Given the description of an element on the screen output the (x, y) to click on. 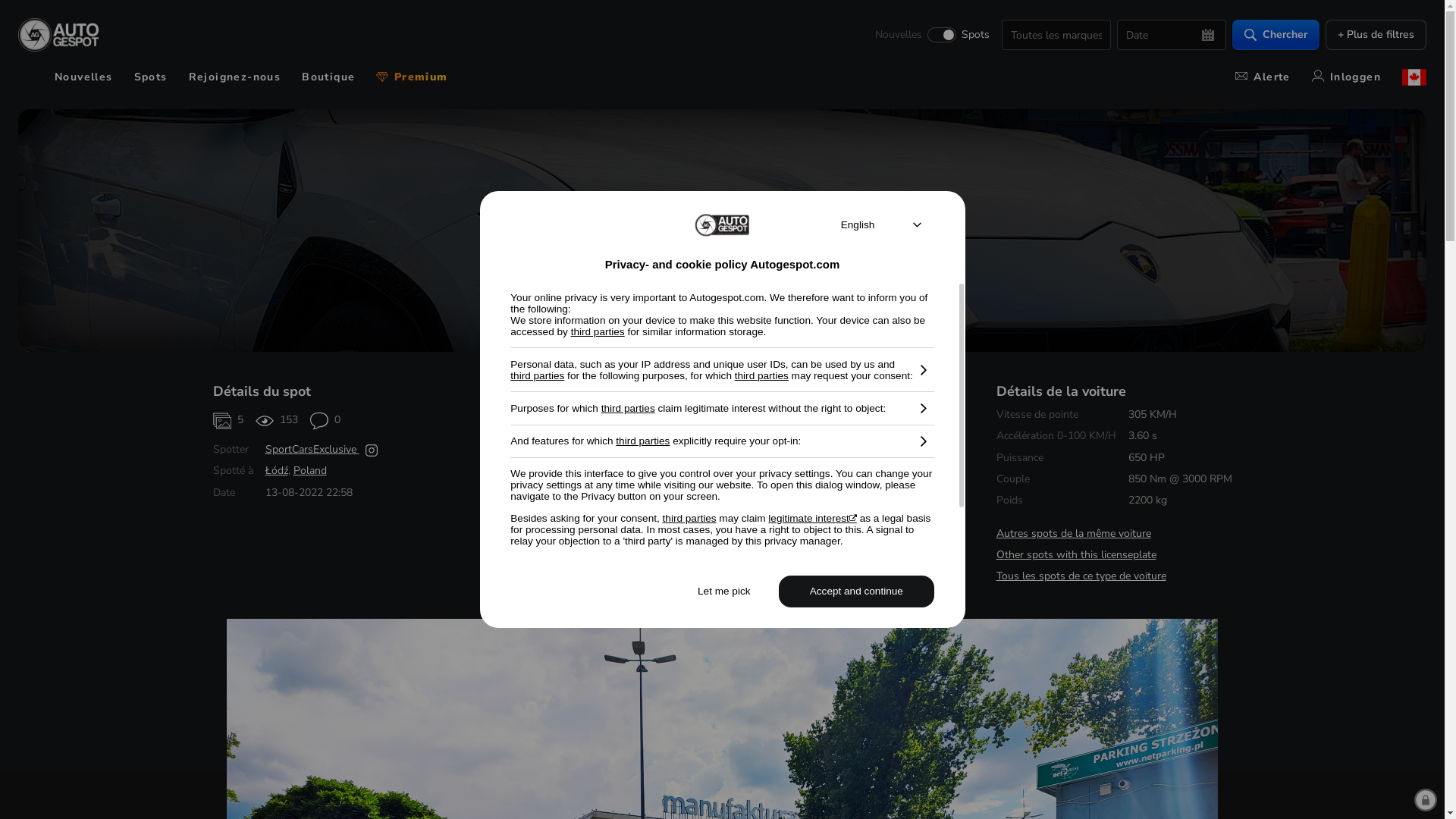
Premium Element type: text (411, 77)
Rejoignez-nous Element type: text (234, 77)
Tous les spots de ce type de voiture Element type: text (1081, 575)
Spots Element type: text (150, 77)
Nouvelles Element type: text (83, 77)
SportCarsExclusive Element type: text (312, 449)
Inloggen Element type: text (1345, 77)
Boutique Element type: text (327, 77)
Chercher Element type: text (1275, 34)
Alerte Element type: text (1262, 77)
Other spots with this licenseplate Element type: text (1076, 554)
Poland Element type: text (309, 470)
